Given the description of an element on the screen output the (x, y) to click on. 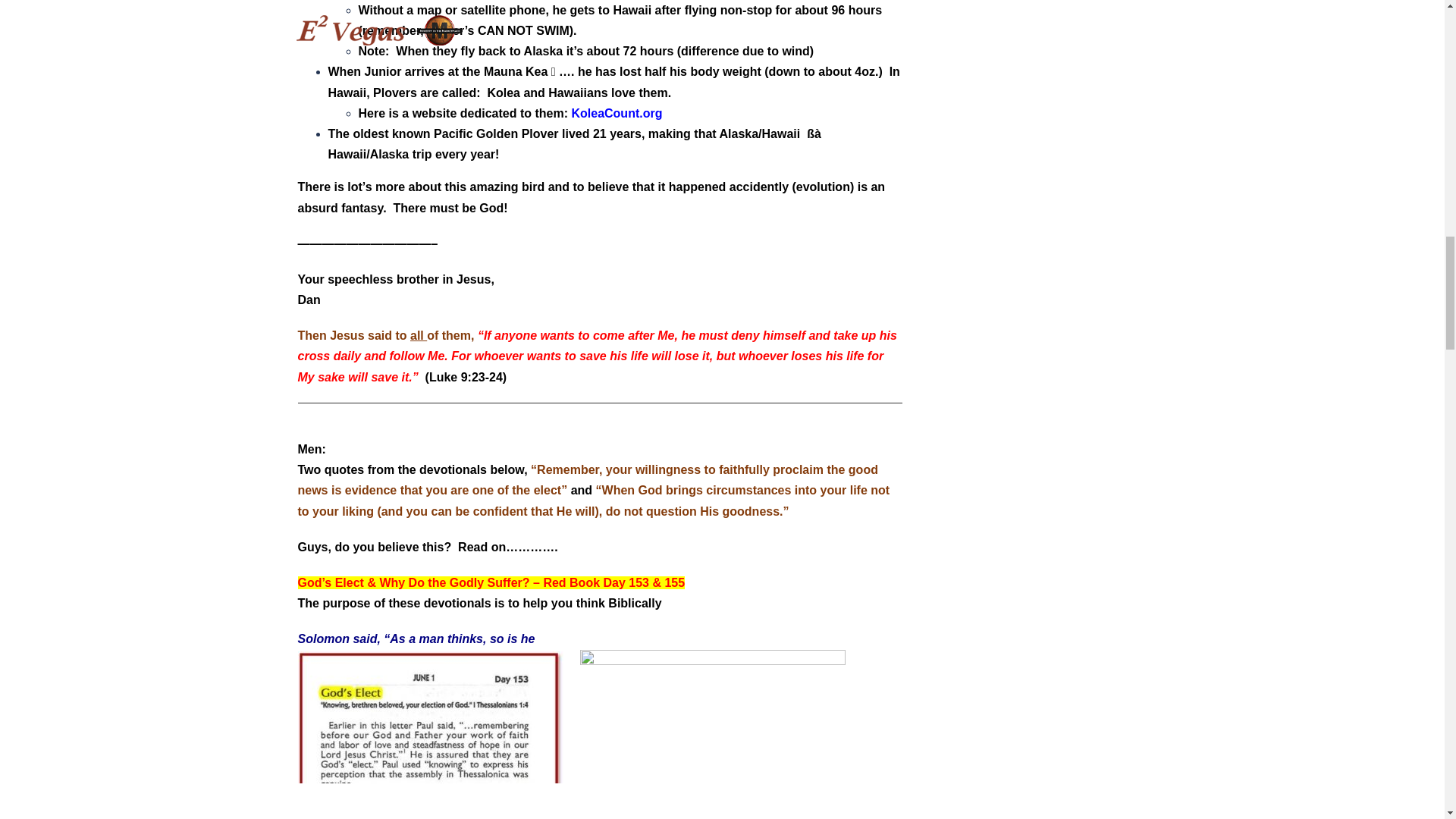
KoleaCount.org (616, 113)
